Given the description of an element on the screen output the (x, y) to click on. 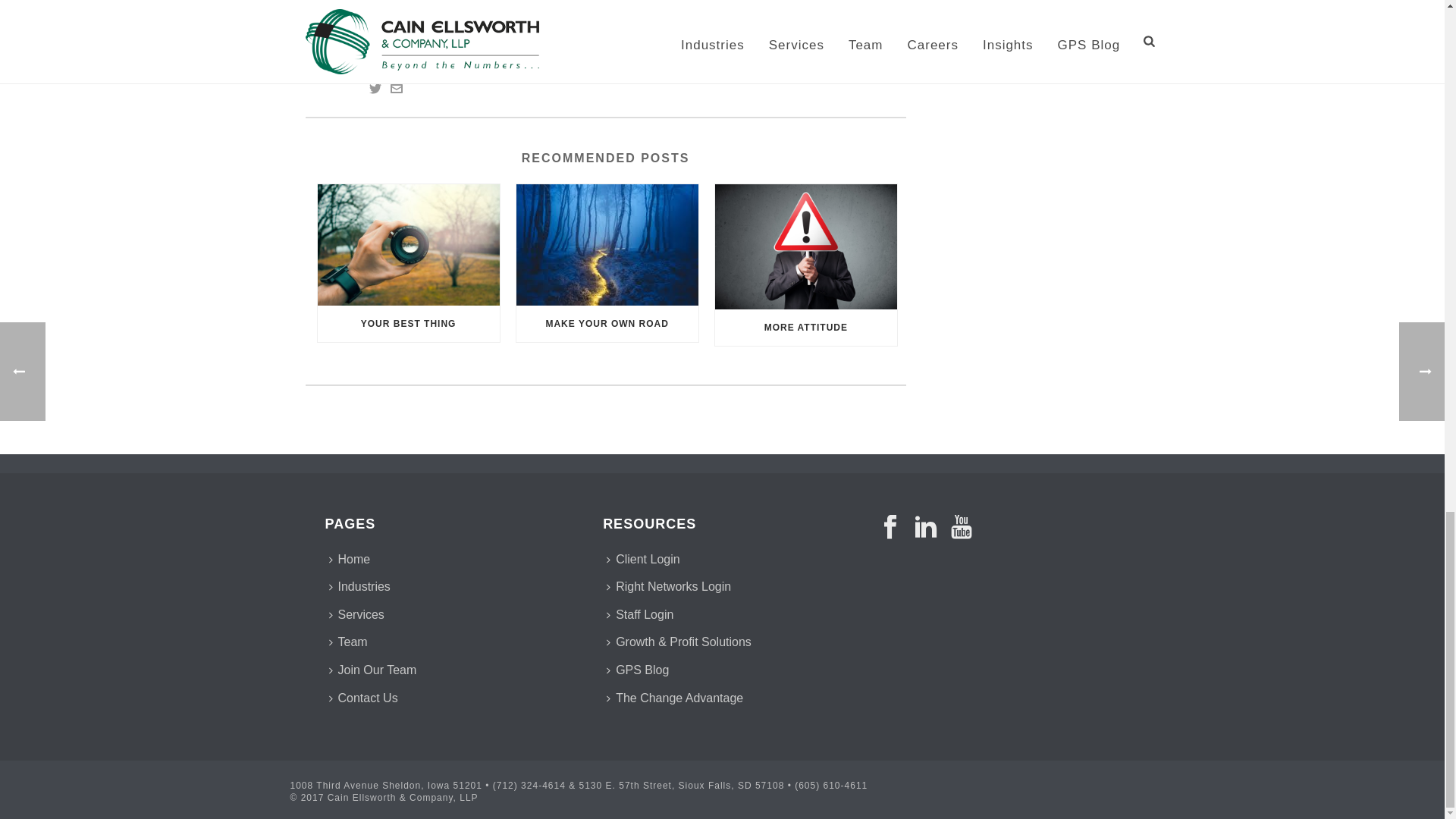
Make Your Own Road (607, 244)
Your Best Thing (408, 244)
Get in touch with me via email (396, 90)
Follow me on Twitter (374, 90)
More Attitude (805, 246)
